Given the description of an element on the screen output the (x, y) to click on. 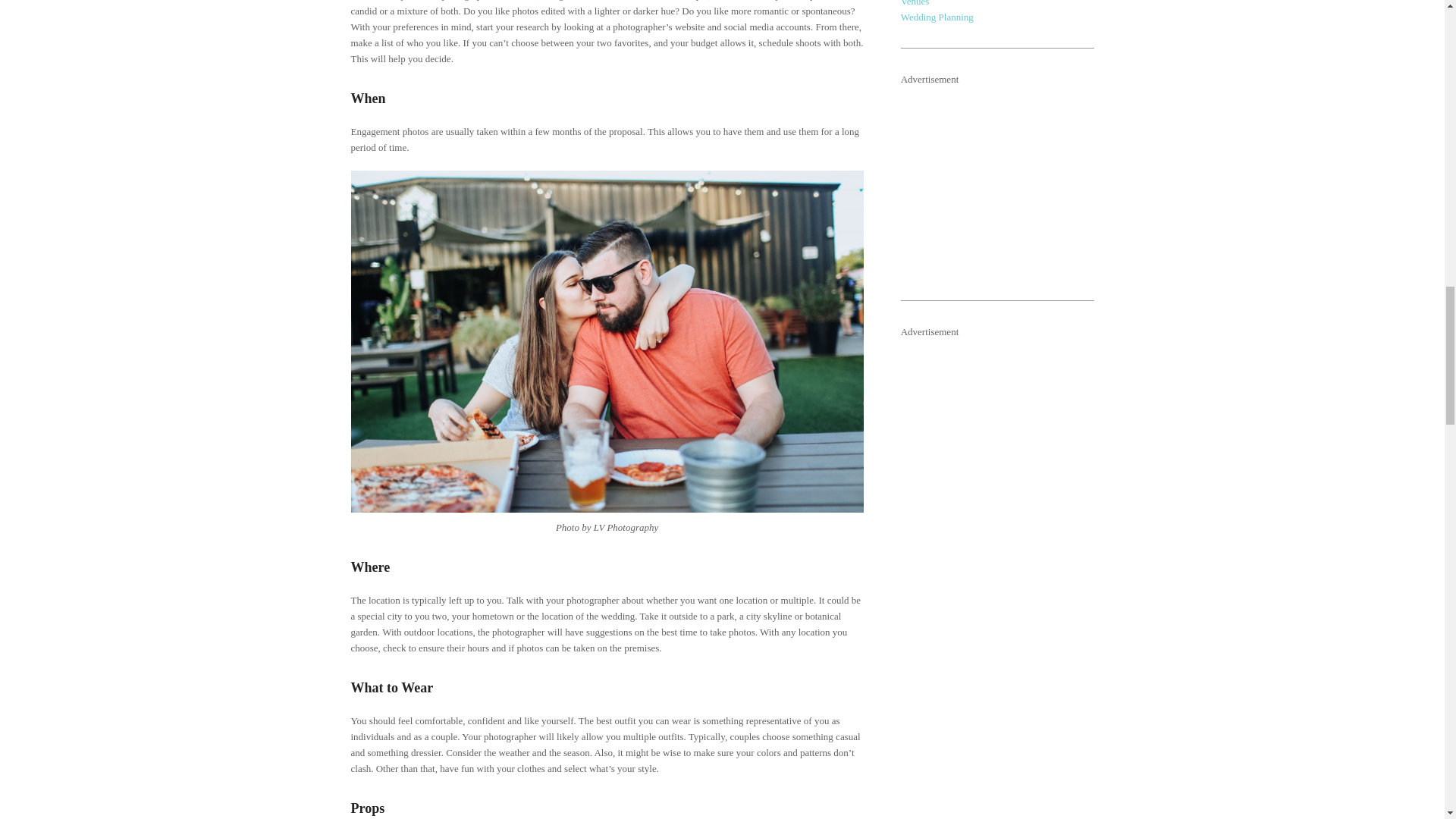
3rd party ad content (1014, 182)
